Given the description of an element on the screen output the (x, y) to click on. 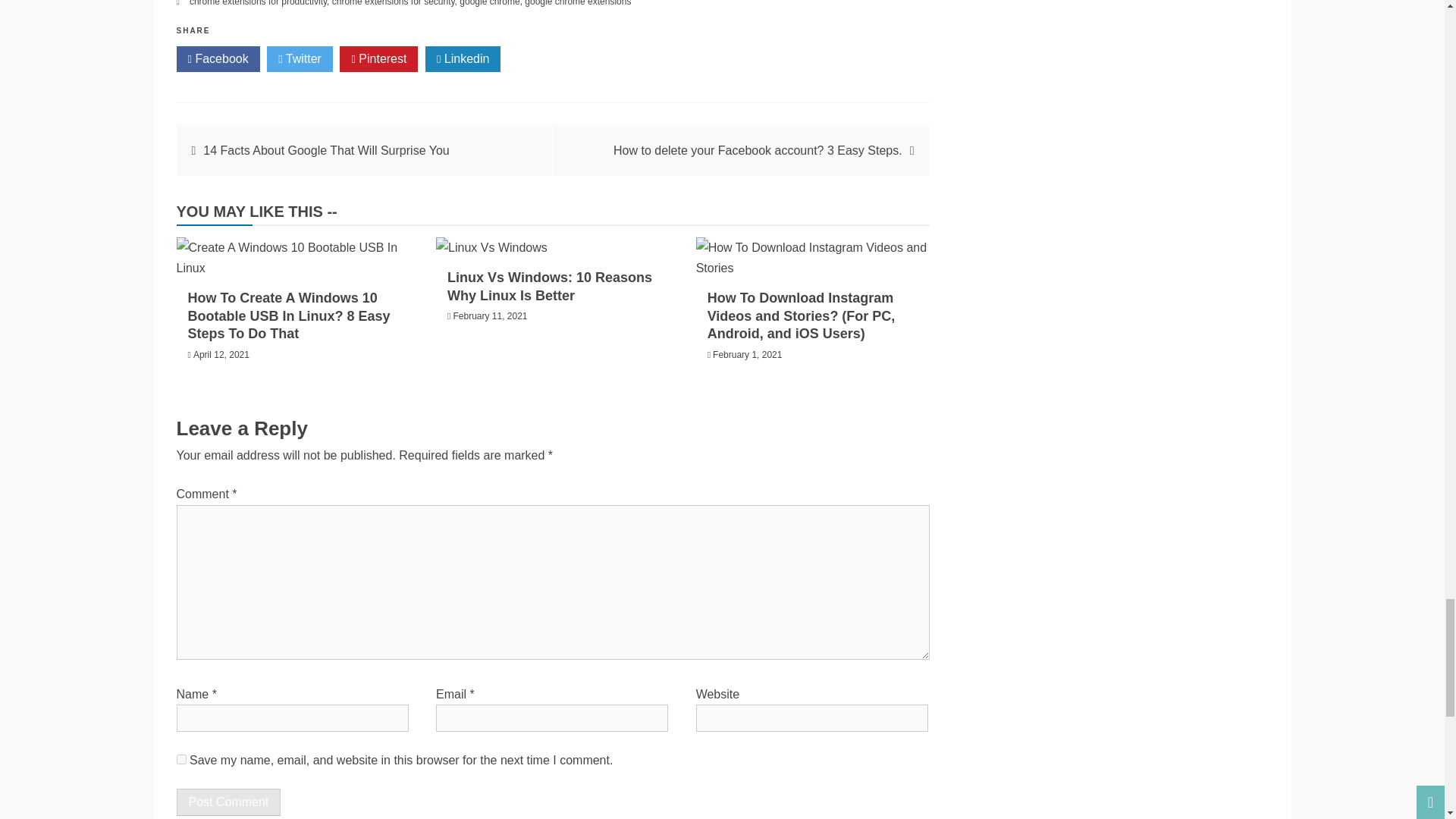
Post Comment (228, 801)
Linux Vs Windows: 10 Reasons Why Linux Is Better 21 (491, 247)
yes (181, 759)
